Given the description of an element on the screen output the (x, y) to click on. 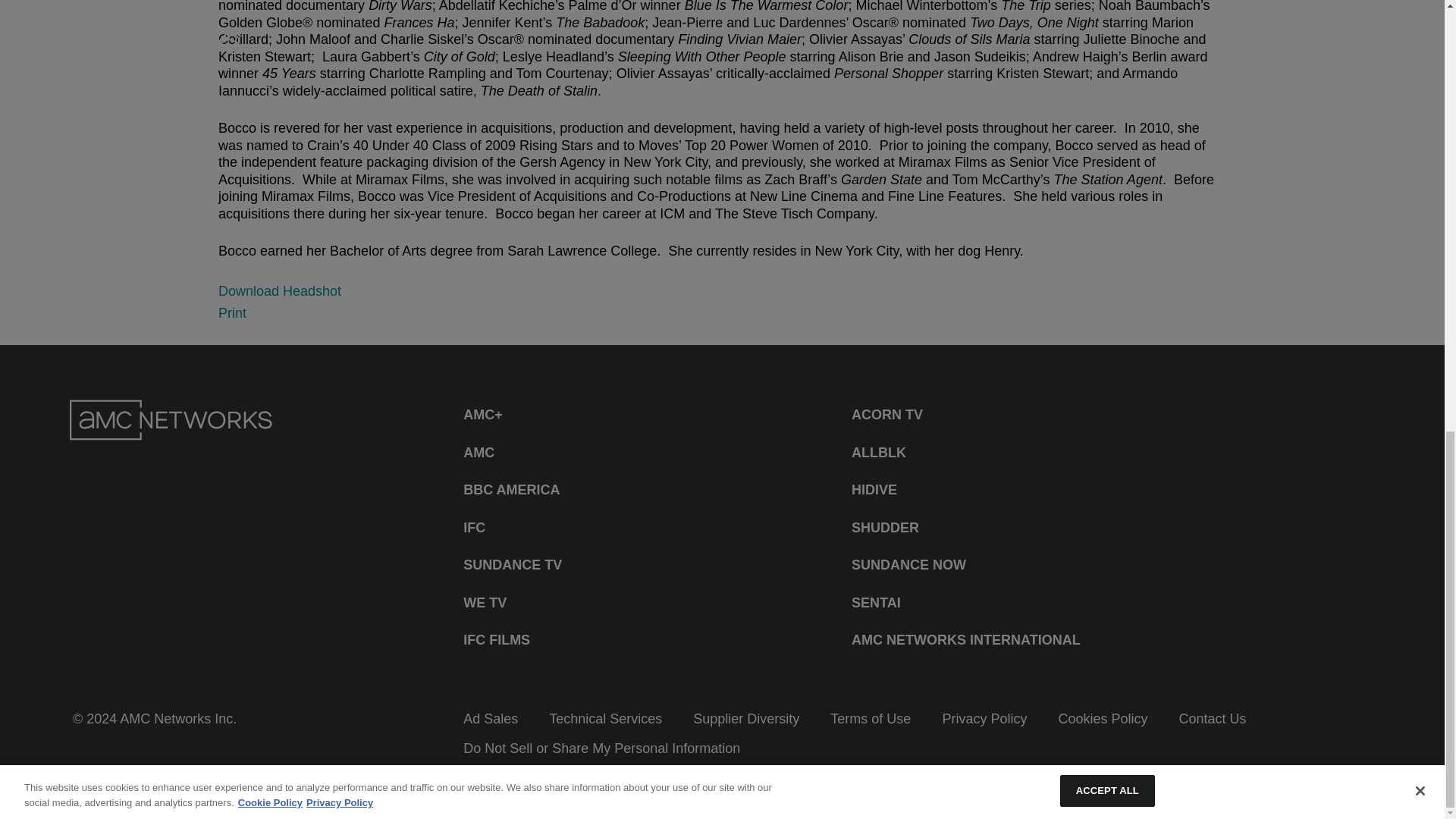
SUNDANCE TV (512, 564)
SHUDDER (884, 527)
ACORN TV (887, 414)
AMC (479, 452)
Print (232, 313)
WE TV (484, 603)
HIDIVE (873, 490)
ALLBLK (878, 452)
IFC FILMS (496, 640)
AMC Networks (170, 419)
BBC AMERICA (511, 490)
Download Headshot (279, 290)
